Given the description of an element on the screen output the (x, y) to click on. 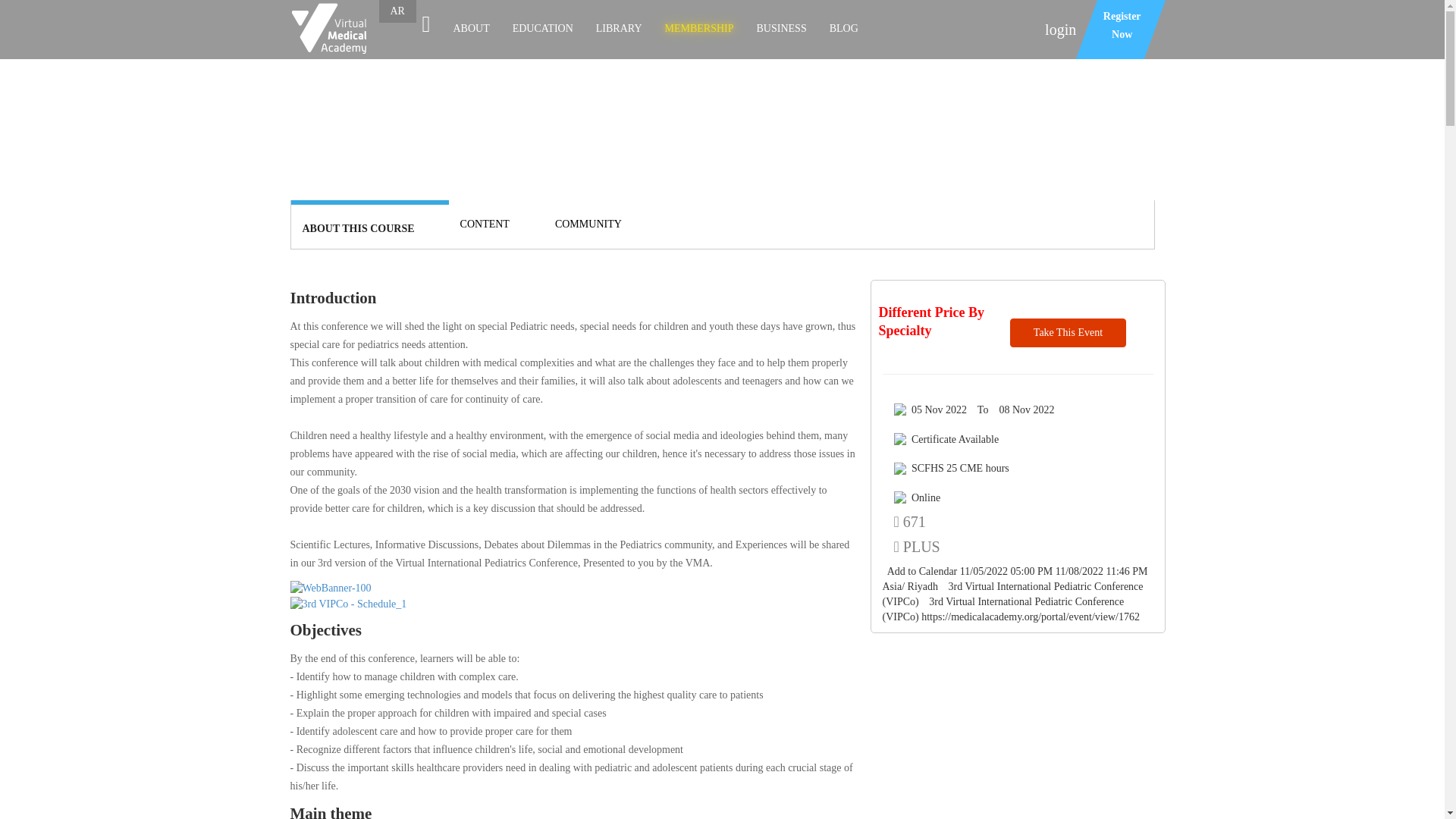
EDUCATION (542, 28)
CONTENT (484, 224)
AR (397, 10)
COMMUNITY (587, 224)
login (1059, 29)
MEMBERSHIP (698, 28)
ABOUT (1109, 29)
ABOUT THIS COURSE (470, 28)
LIBRARY (357, 228)
